Given the description of an element on the screen output the (x, y) to click on. 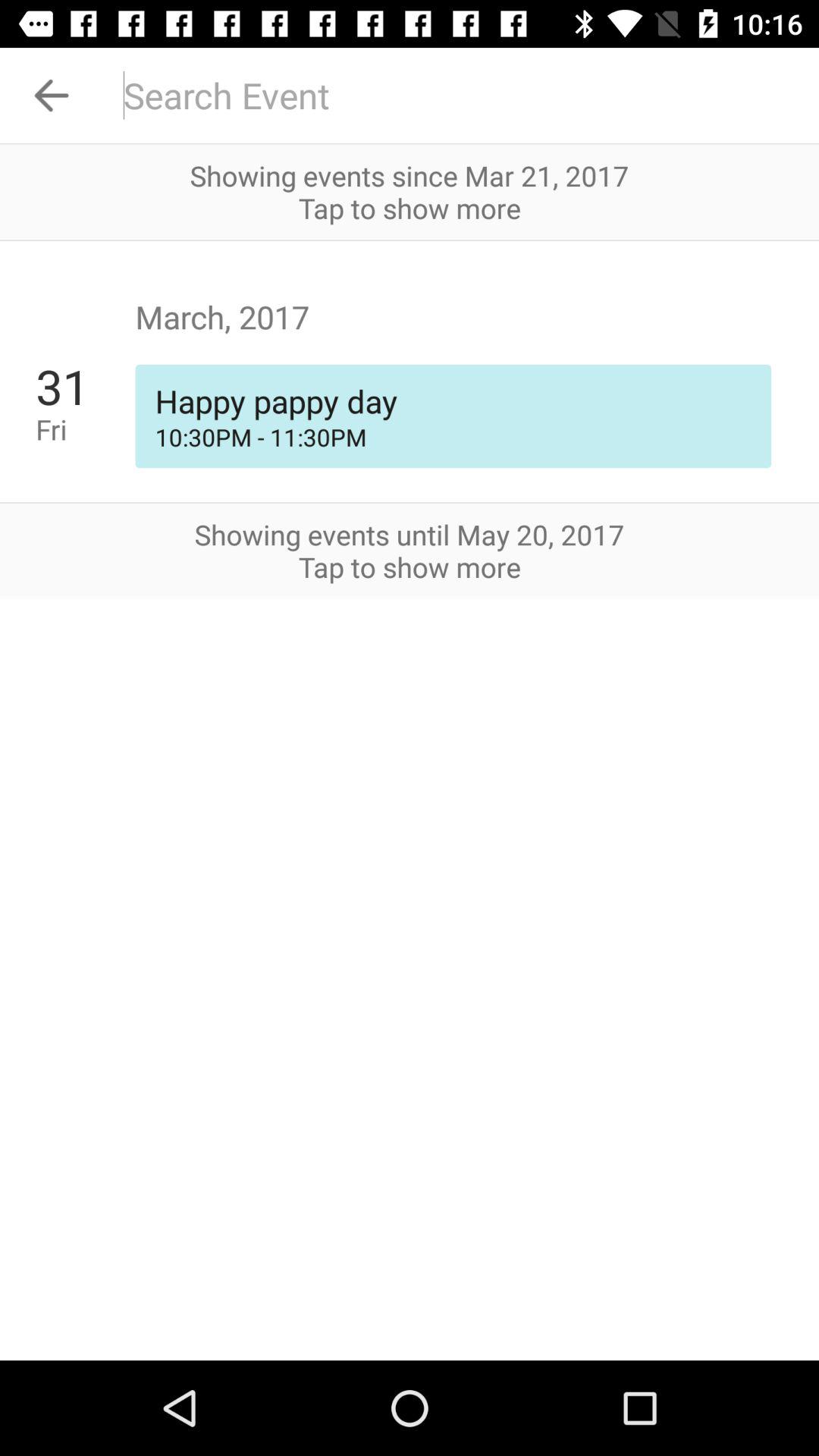
enter search topic (461, 95)
